Given the description of an element on the screen output the (x, y) to click on. 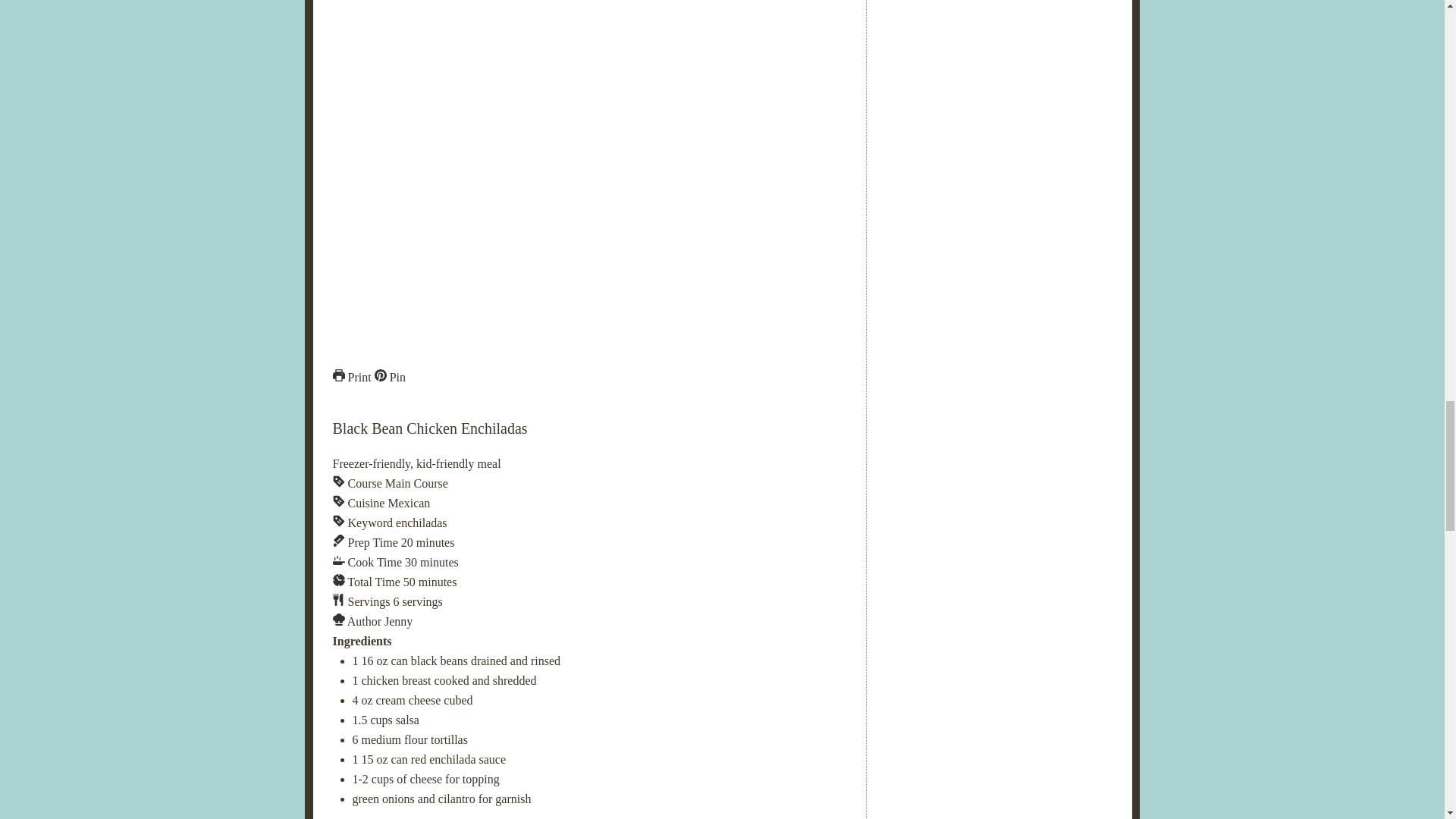
Pin (390, 377)
Print (351, 377)
